Given the description of an element on the screen output the (x, y) to click on. 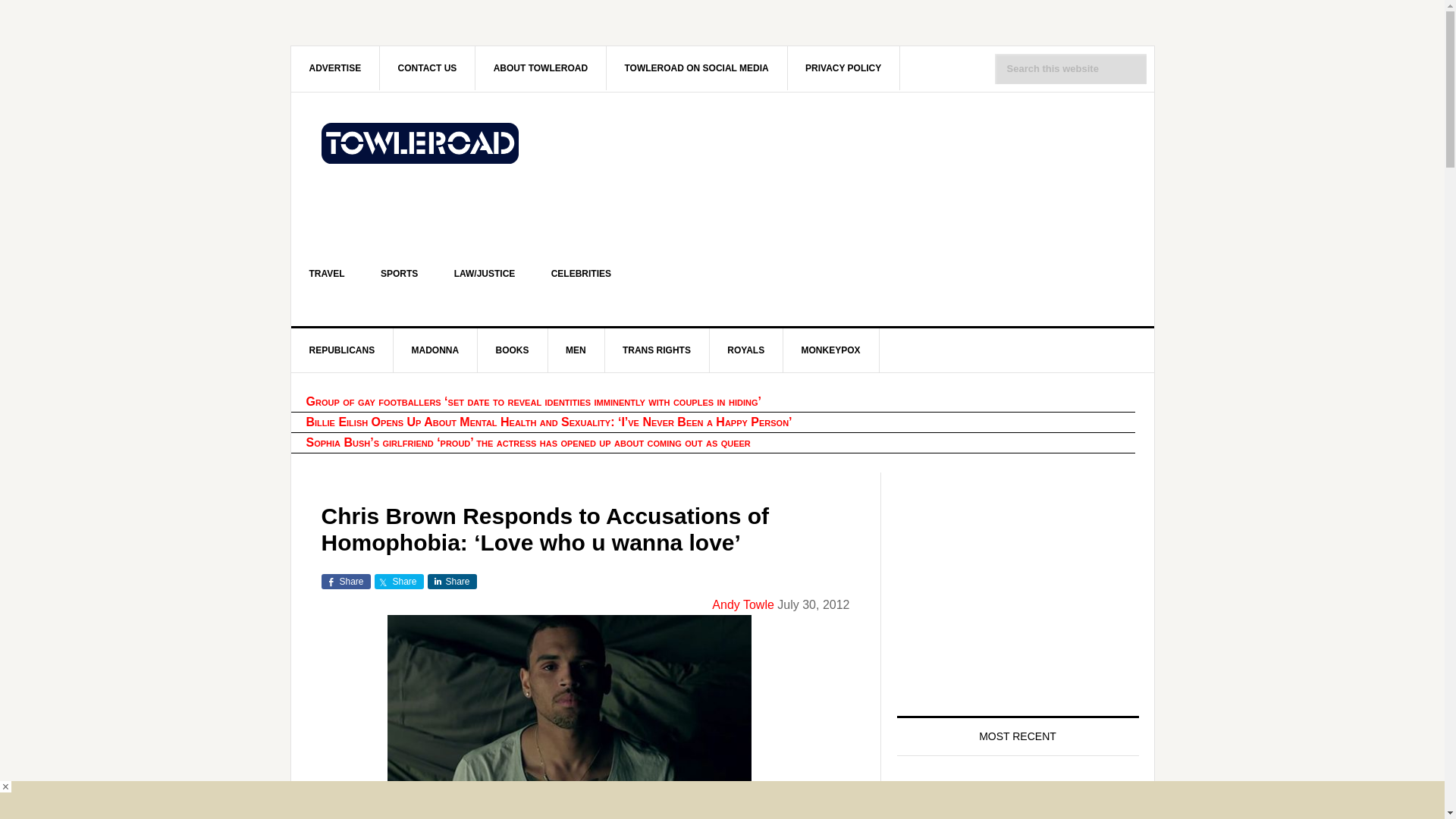
Share (398, 580)
ROYALS (746, 349)
Share (452, 580)
Brown (569, 716)
CONTACT US (428, 67)
MONKEYPOX (831, 349)
ADVERTISE (335, 67)
close (5, 786)
TRAVEL (326, 273)
CELEBRITIES (580, 273)
REPUBLICANS (342, 349)
BOOKS (512, 349)
ABOUT TOWLEROAD (541, 67)
Andy Towle (742, 603)
